Given the description of an element on the screen output the (x, y) to click on. 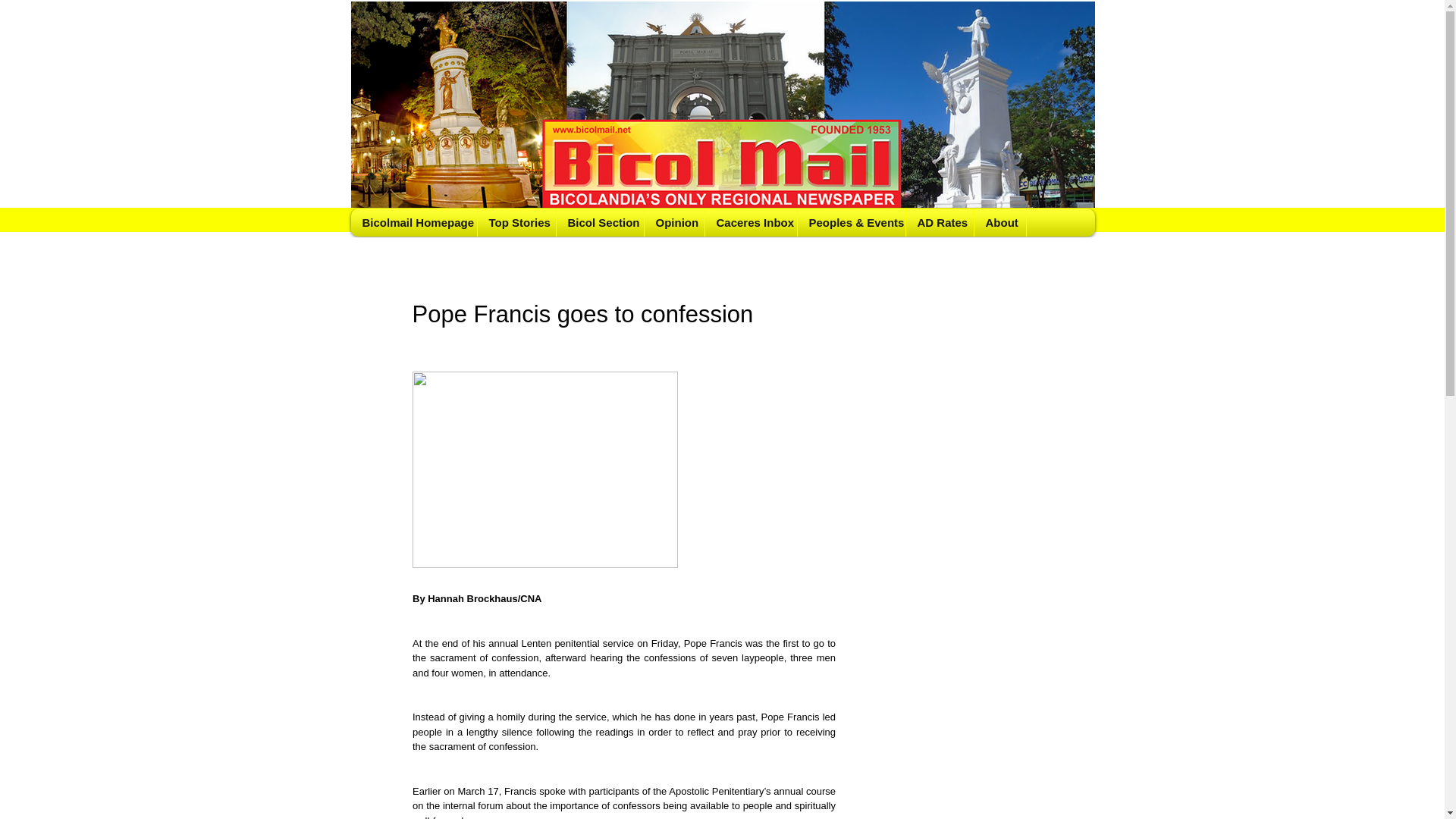
Opinion (673, 222)
Caceres Inbox (749, 222)
Bicolmail Homepage (414, 222)
Bicol Section (599, 222)
AD Rates (939, 222)
About (1000, 222)
Top Stories (515, 222)
